Given the description of an element on the screen output the (x, y) to click on. 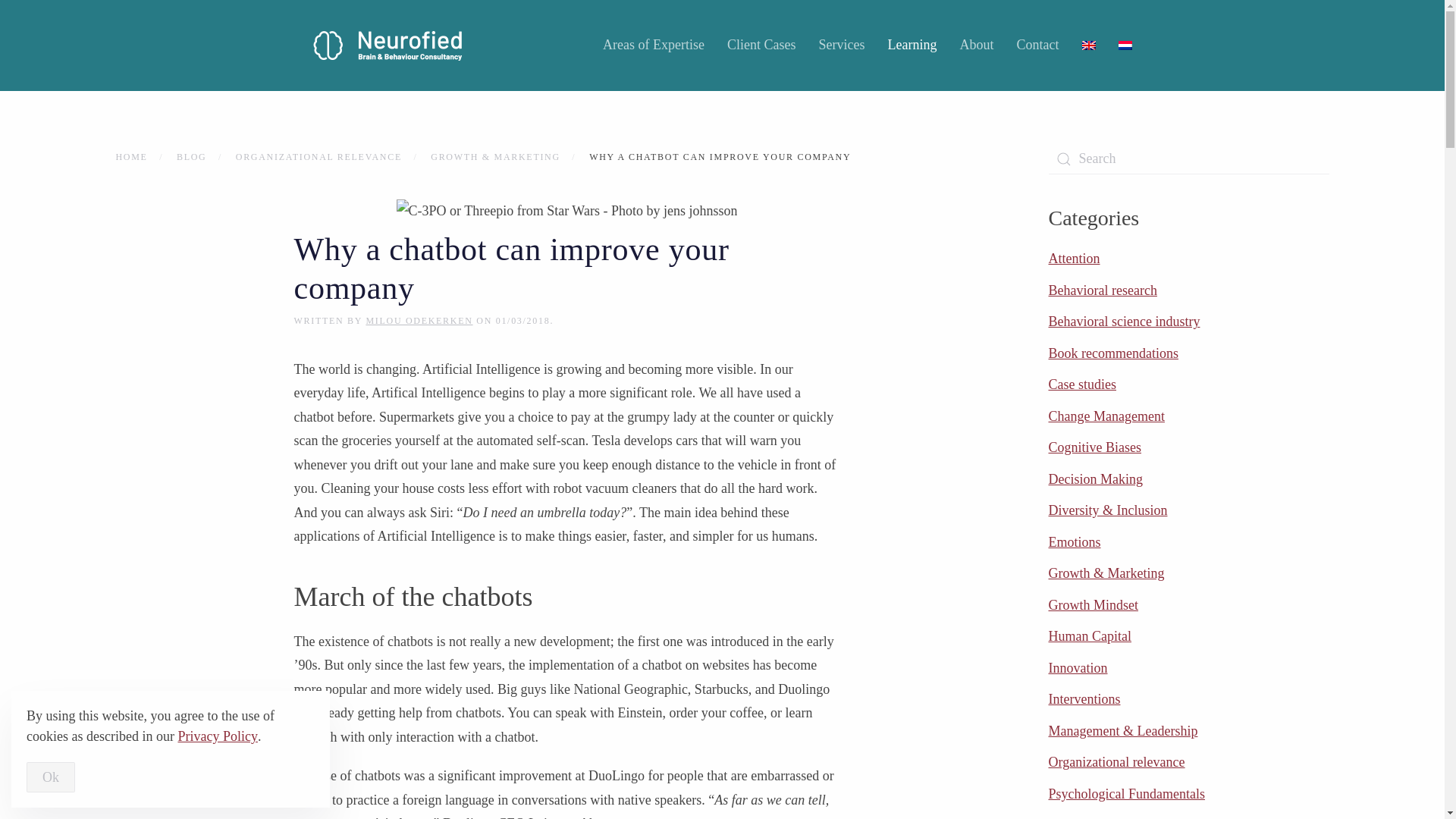
Areas of Expertise (653, 45)
Client Cases (761, 45)
BLOG (191, 156)
HOME (131, 156)
ORGANIZATIONAL RELEVANCE (318, 156)
MILOU ODEKERKEN (418, 320)
